Given the description of an element on the screen output the (x, y) to click on. 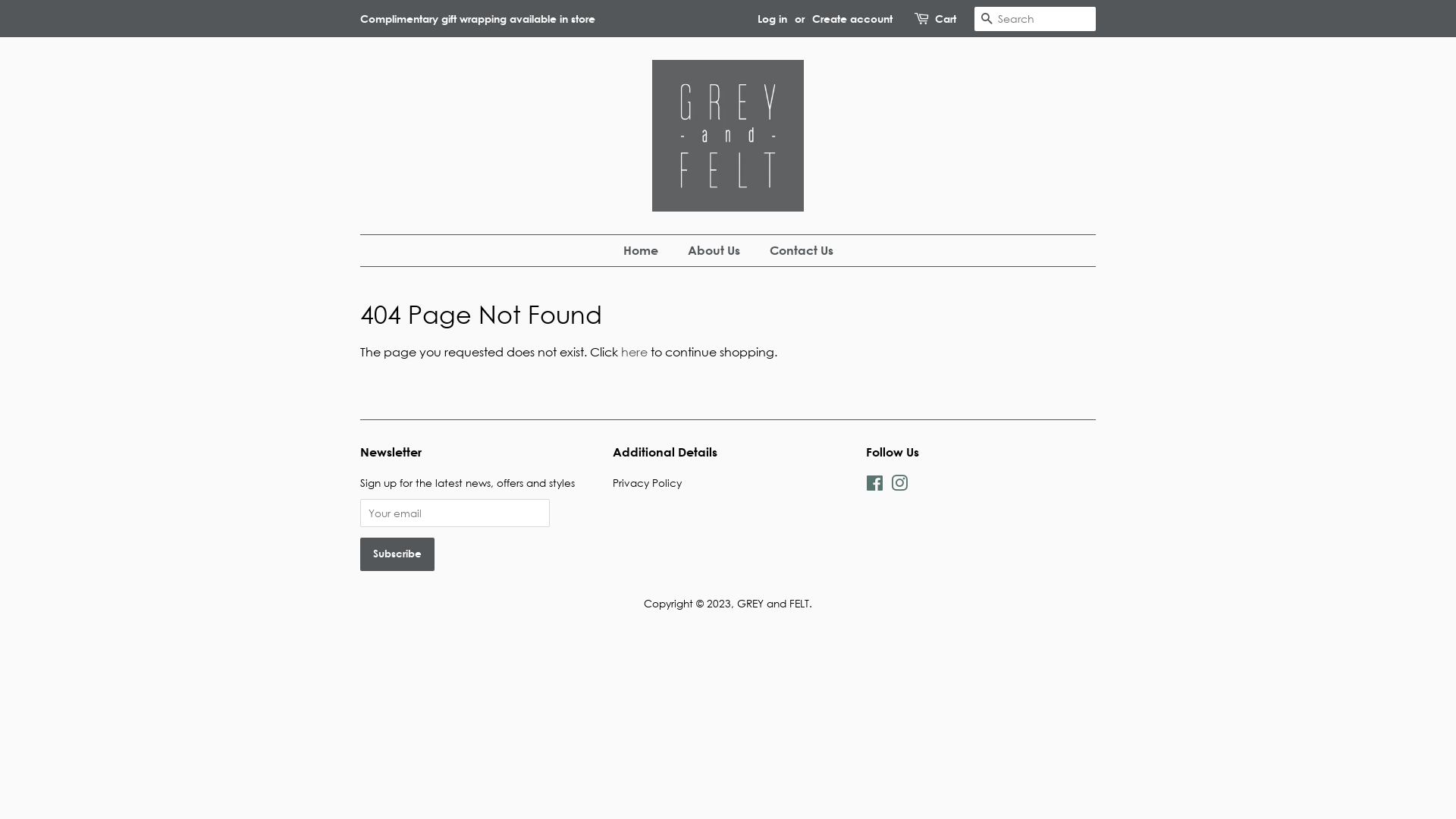
Cart Element type: text (945, 18)
Search Element type: text (986, 18)
About Us Element type: text (715, 250)
GREY and FELT Element type: text (773, 602)
Facebook Element type: text (874, 485)
here Element type: text (634, 351)
Home Element type: text (648, 250)
Create account Element type: text (852, 18)
Log in Element type: text (772, 18)
Contact Us Element type: text (795, 250)
Privacy Policy Element type: text (646, 482)
Subscribe Element type: text (397, 554)
Instagram Element type: text (899, 485)
